Given the description of an element on the screen output the (x, y) to click on. 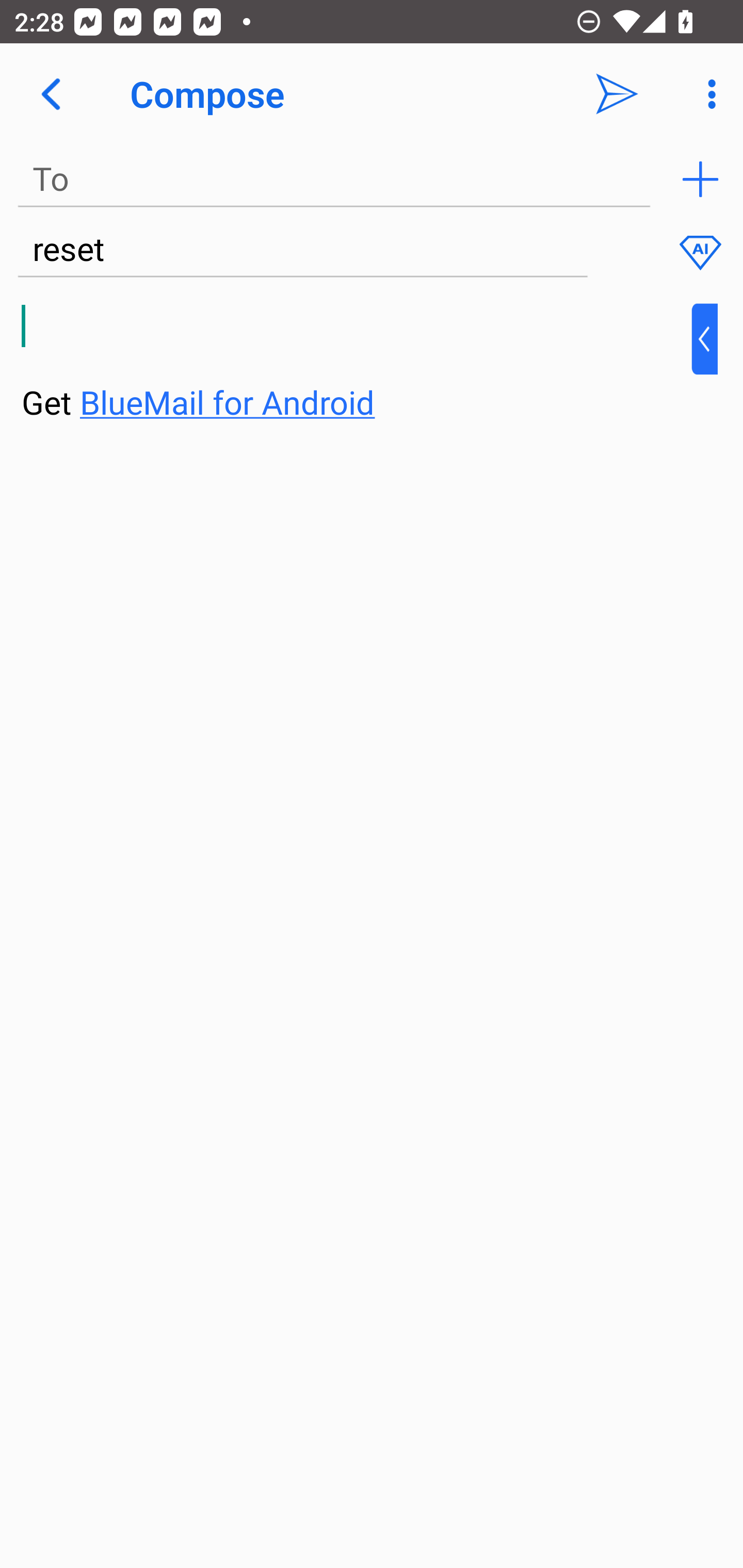
Navigate up (50, 93)
Send (616, 93)
More Options (706, 93)
To (334, 179)
Add recipient (To) (699, 179)
reset (302, 249)


⁣Get BlueMail for Android ​ (355, 363)
